Given the description of an element on the screen output the (x, y) to click on. 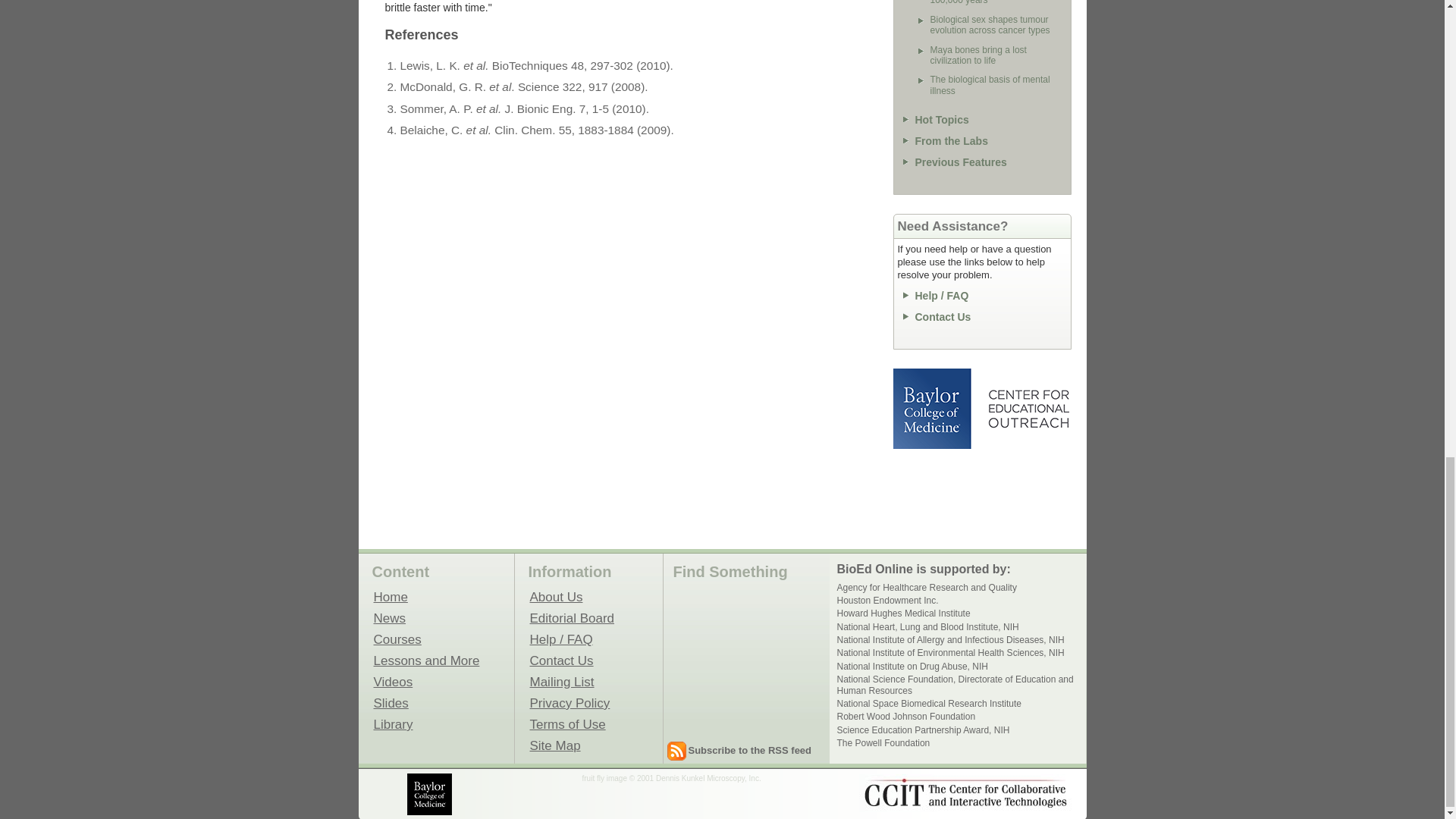
Center for Educational Outreach - Baylor College of Medicine (1027, 408)
Baylor College of Medicine (430, 793)
Baylor College of Medicine (933, 408)
